Given the description of an element on the screen output the (x, y) to click on. 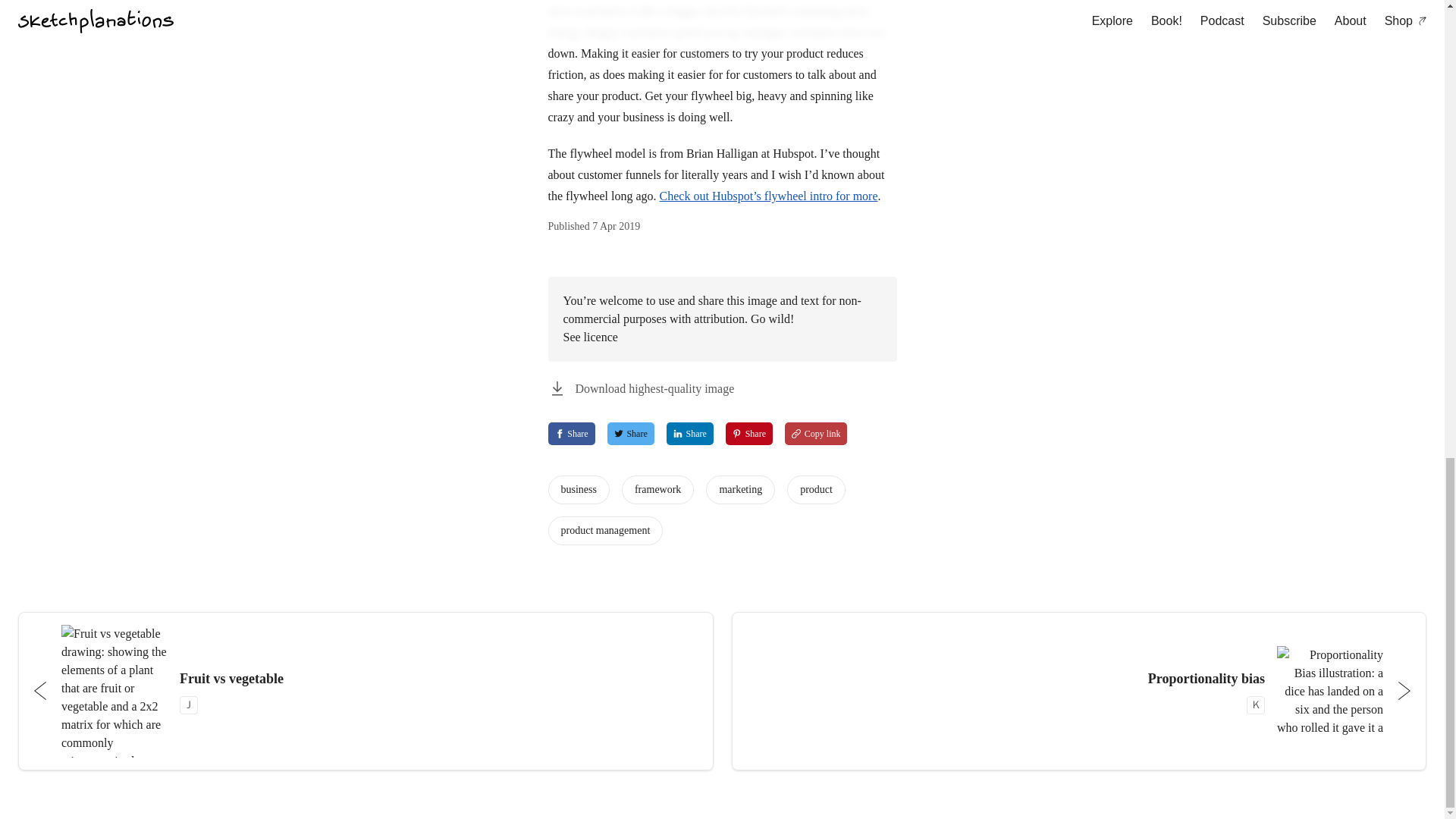
product management (365, 690)
Download highest-quality image (570, 433)
business (604, 530)
marketing (630, 433)
product (689, 433)
Copy link (640, 389)
See licence (1078, 690)
framework (577, 489)
